Given the description of an element on the screen output the (x, y) to click on. 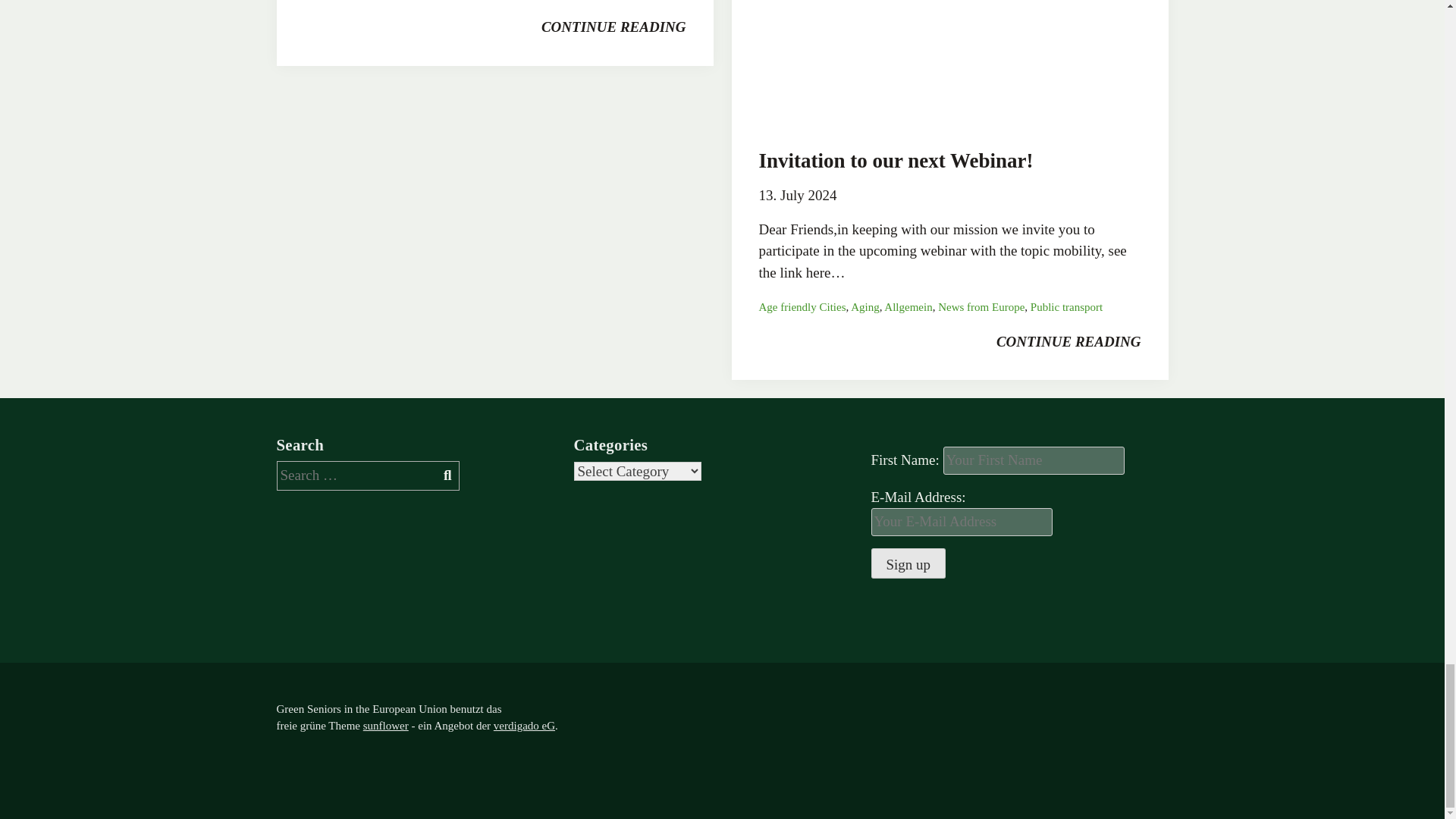
Sign up (907, 562)
